Given the description of an element on the screen output the (x, y) to click on. 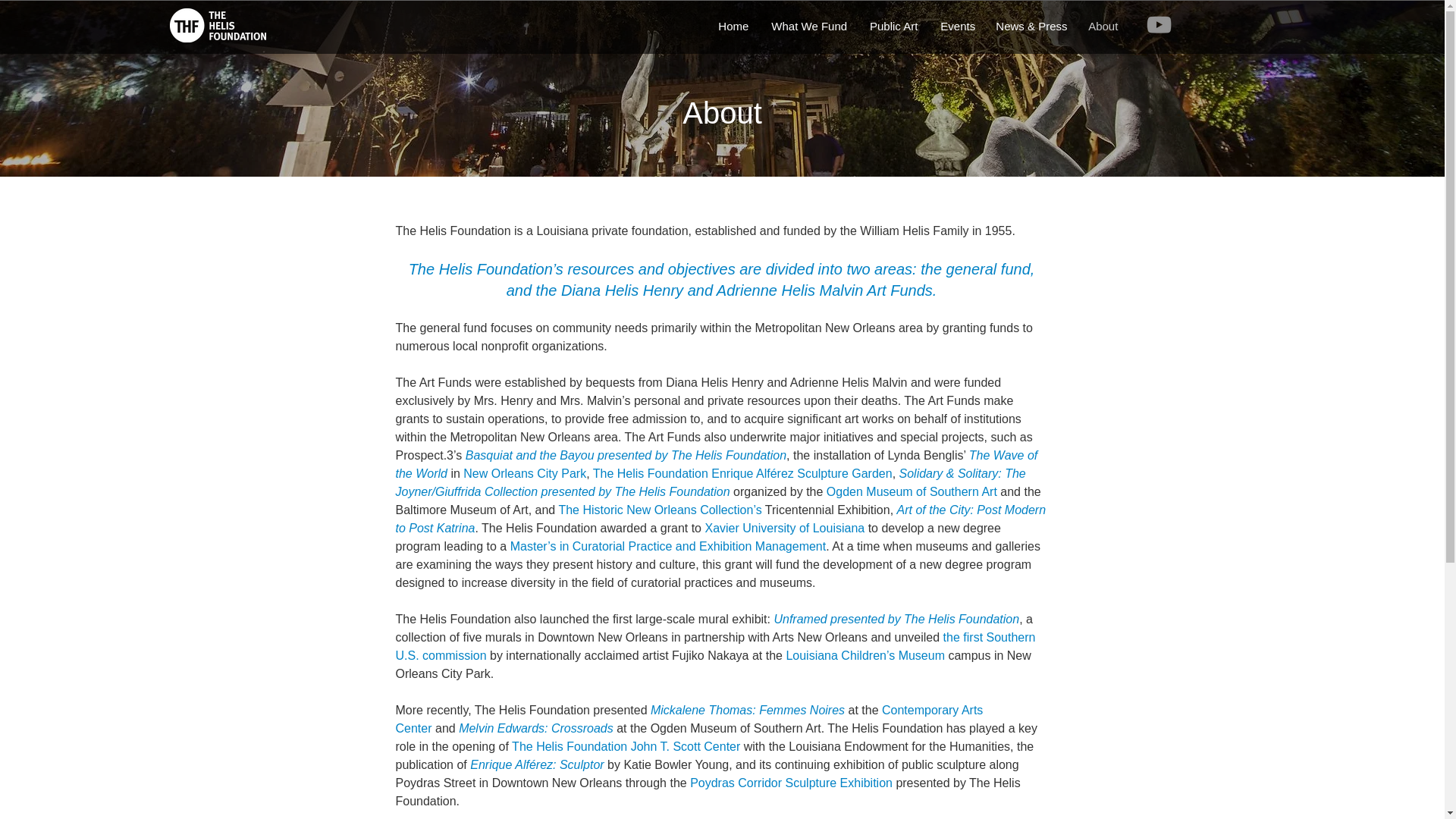
What We Fund (808, 26)
Contemporary Arts Center (690, 718)
Mickalene Thomas: Femmes Noires (747, 709)
Public Art (892, 26)
About (1102, 26)
Home (733, 26)
The Wave of the World (717, 463)
Xavier University of Louisiana (784, 527)
New Orleans City Park (524, 472)
Events (956, 26)
Poydras Corridor Sculpture Exhibition (791, 782)
Basquiat and the Bayou presented by The Helis Foundation (625, 454)
The Helis Foundation John T. Scott Center (625, 746)
the first Southern U.S. commission (715, 645)
Melvin Edwards: Crossroads (535, 727)
